Given the description of an element on the screen output the (x, y) to click on. 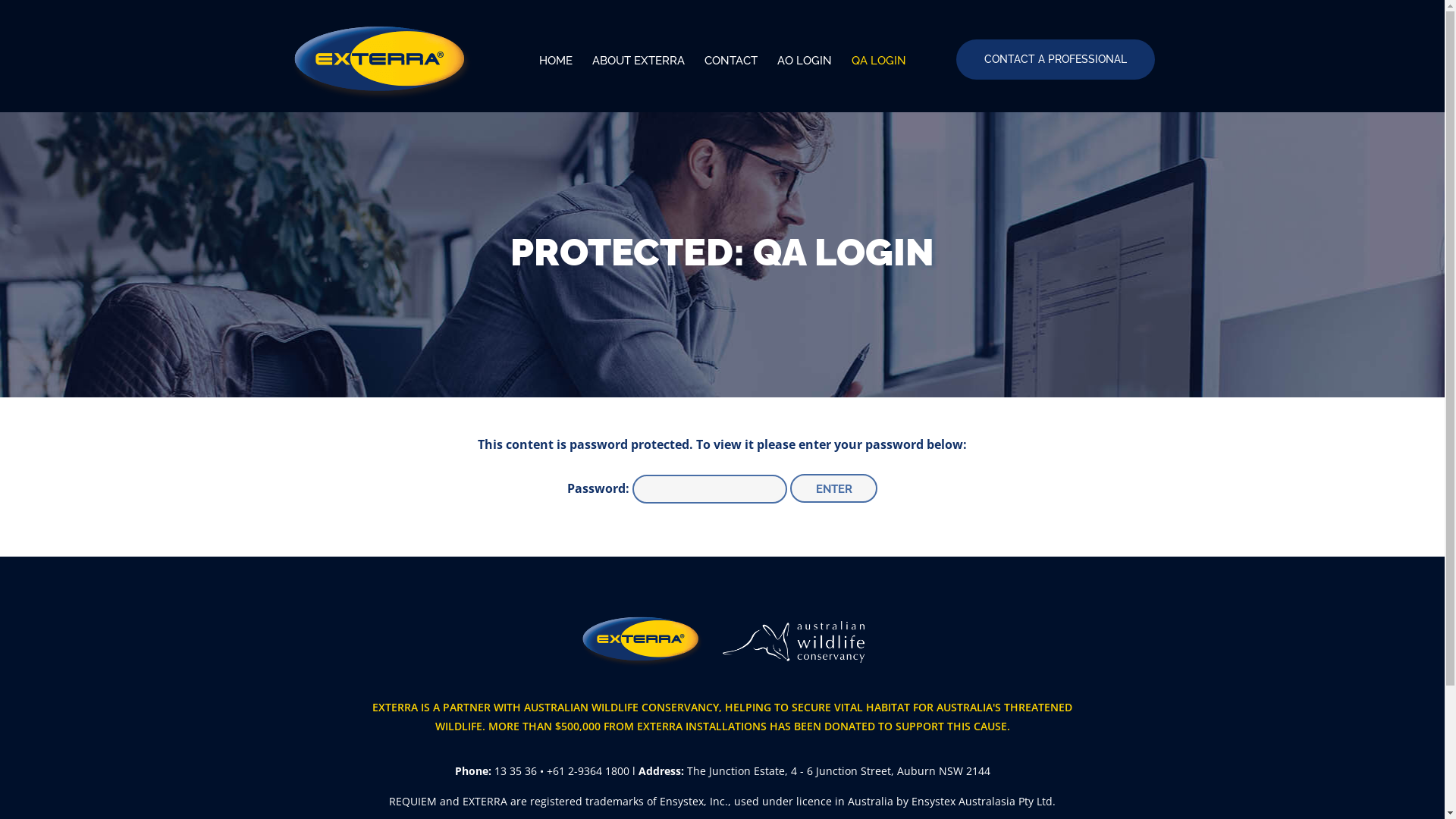
Enter Element type: text (833, 487)
CONTACT A PROFESSIONAL Element type: text (1054, 59)
QA LOGIN Element type: text (874, 60)
CONTACT Element type: text (730, 60)
AO LOGIN Element type: text (804, 60)
HOME Element type: text (559, 60)
13 35 36 Element type: text (515, 770)
+61 2-9364 1800 Element type: text (587, 770)
ABOUT EXTERRA Element type: text (638, 60)
